Given the description of an element on the screen output the (x, y) to click on. 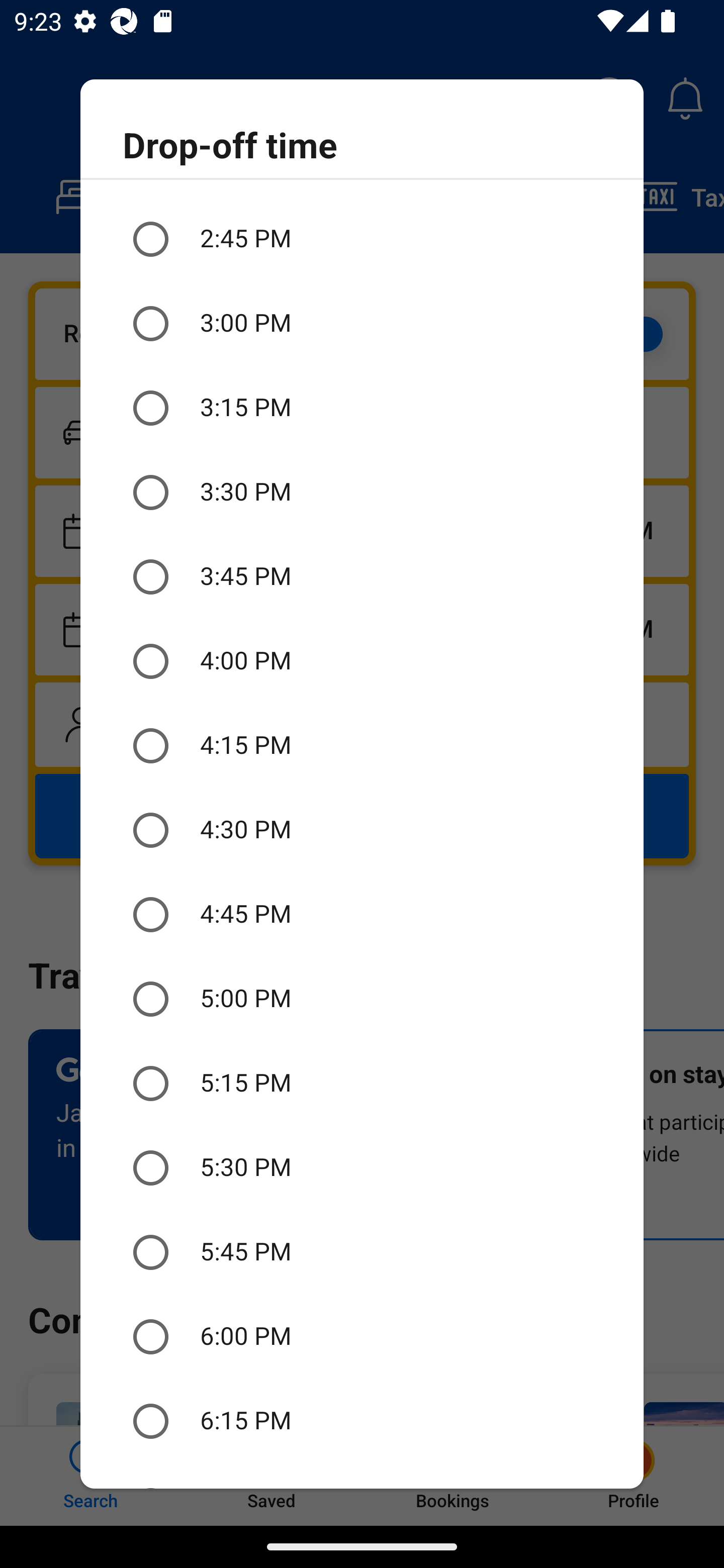
2:45 PM (361, 238)
3:00 PM (361, 322)
3:15 PM (361, 407)
3:30 PM (361, 492)
3:45 PM (361, 576)
4:00 PM (361, 661)
4:15 PM (361, 746)
4:30 PM (361, 829)
4:45 PM (361, 913)
5:00 PM (361, 998)
5:15 PM (361, 1083)
5:30 PM (361, 1167)
5:45 PM (361, 1252)
6:00 PM (361, 1336)
6:15 PM (361, 1420)
